Given the description of an element on the screen output the (x, y) to click on. 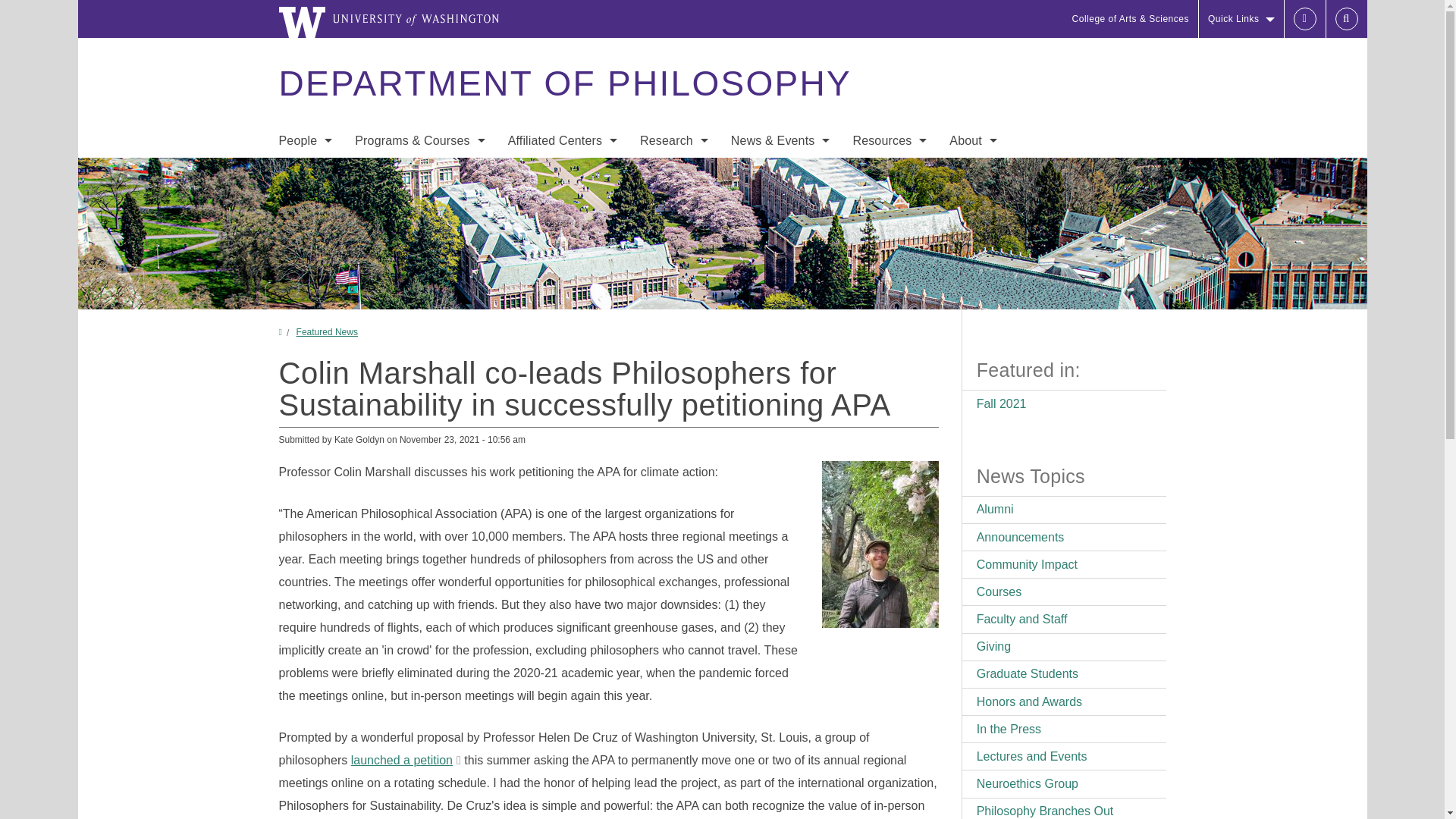
DEPARTMENT OF PHILOSOPHY (564, 83)
Job Market Candidates (304, 263)
Alumni (304, 294)
People (304, 140)
Undergraduate (419, 173)
Department of Philosophy Home (564, 83)
Faculty (304, 173)
UWNetID Login (1304, 18)
Graduate Students (304, 233)
Staff (304, 203)
Graduate (419, 203)
Quick Links (1241, 18)
